Given the description of an element on the screen output the (x, y) to click on. 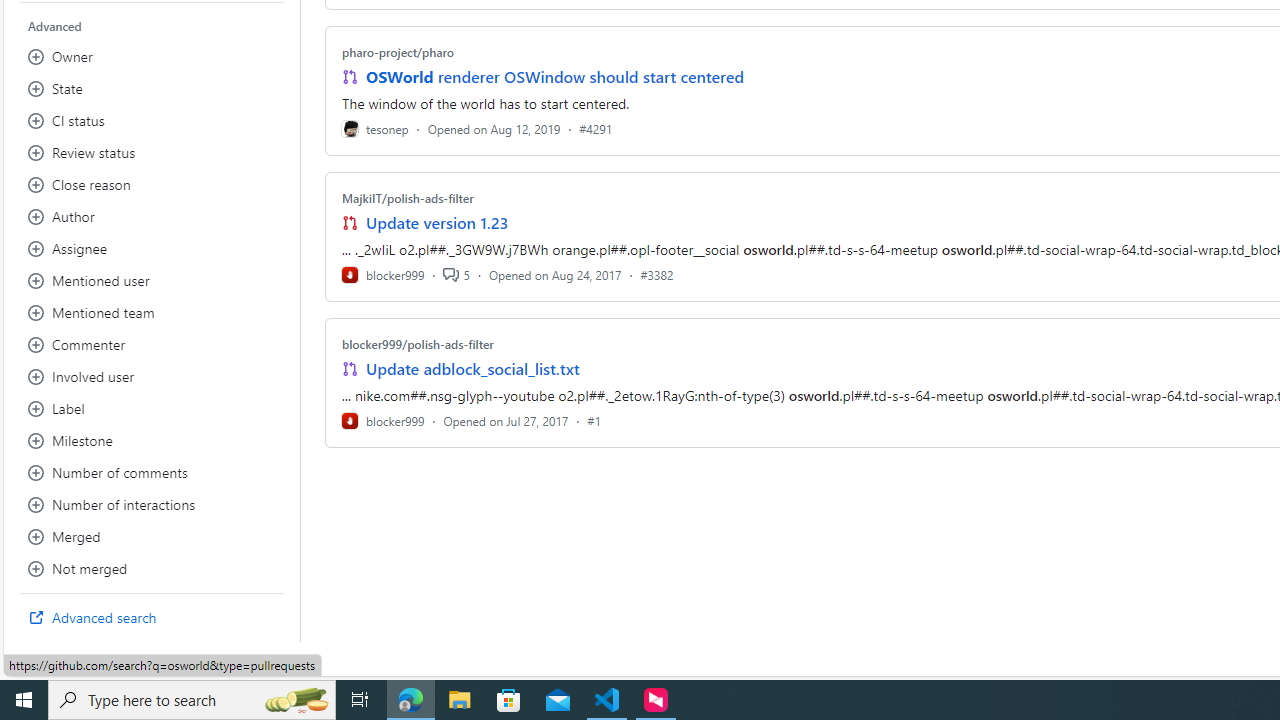
Update version 1.23 (437, 222)
#4291 (595, 128)
OSWorld renderer OSWindow should start centered (554, 76)
blocker999 (382, 420)
#3382 (657, 273)
